Given the description of an element on the screen output the (x, y) to click on. 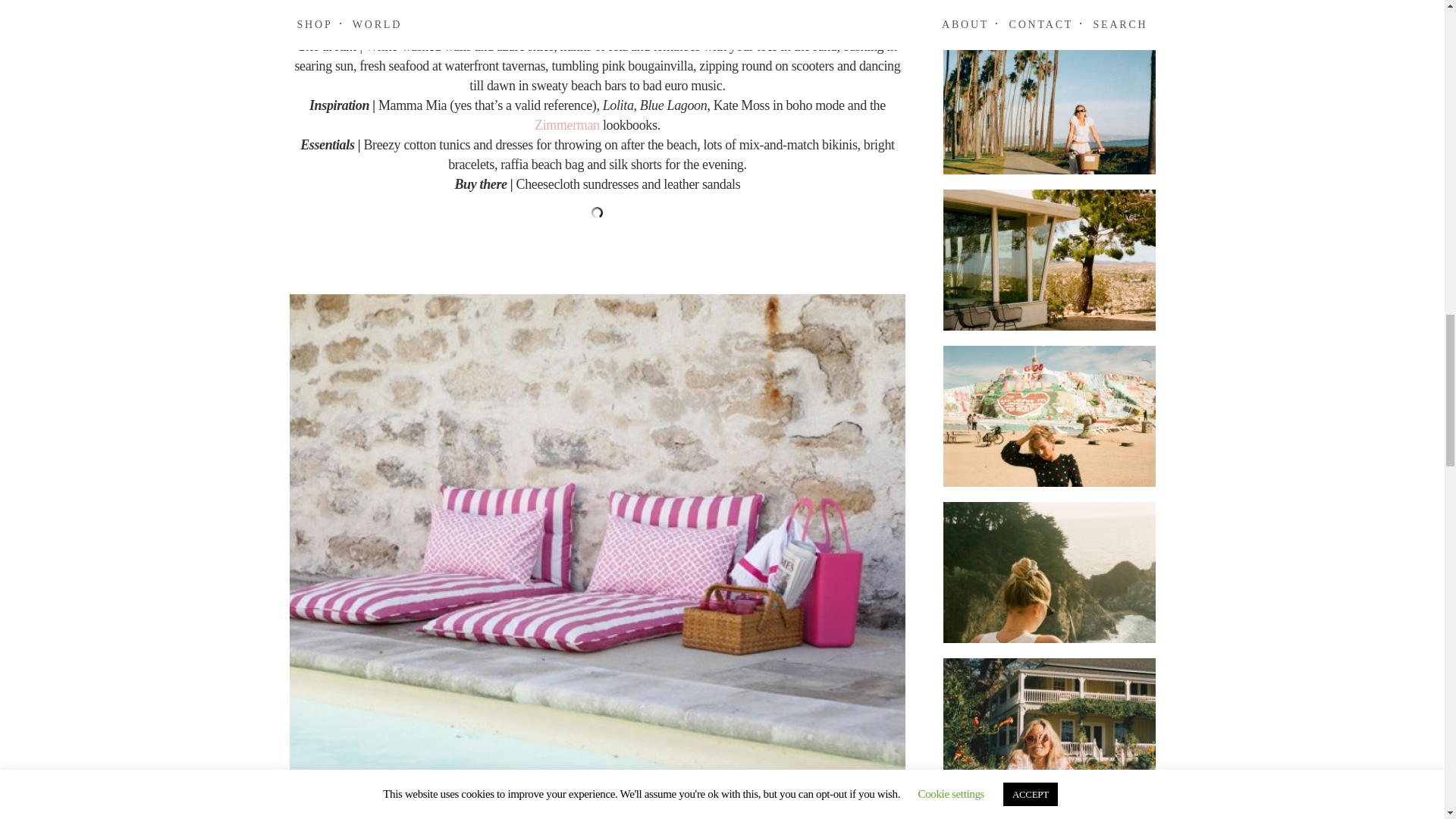
Zimmerman (568, 124)
